Given the description of an element on the screen output the (x, y) to click on. 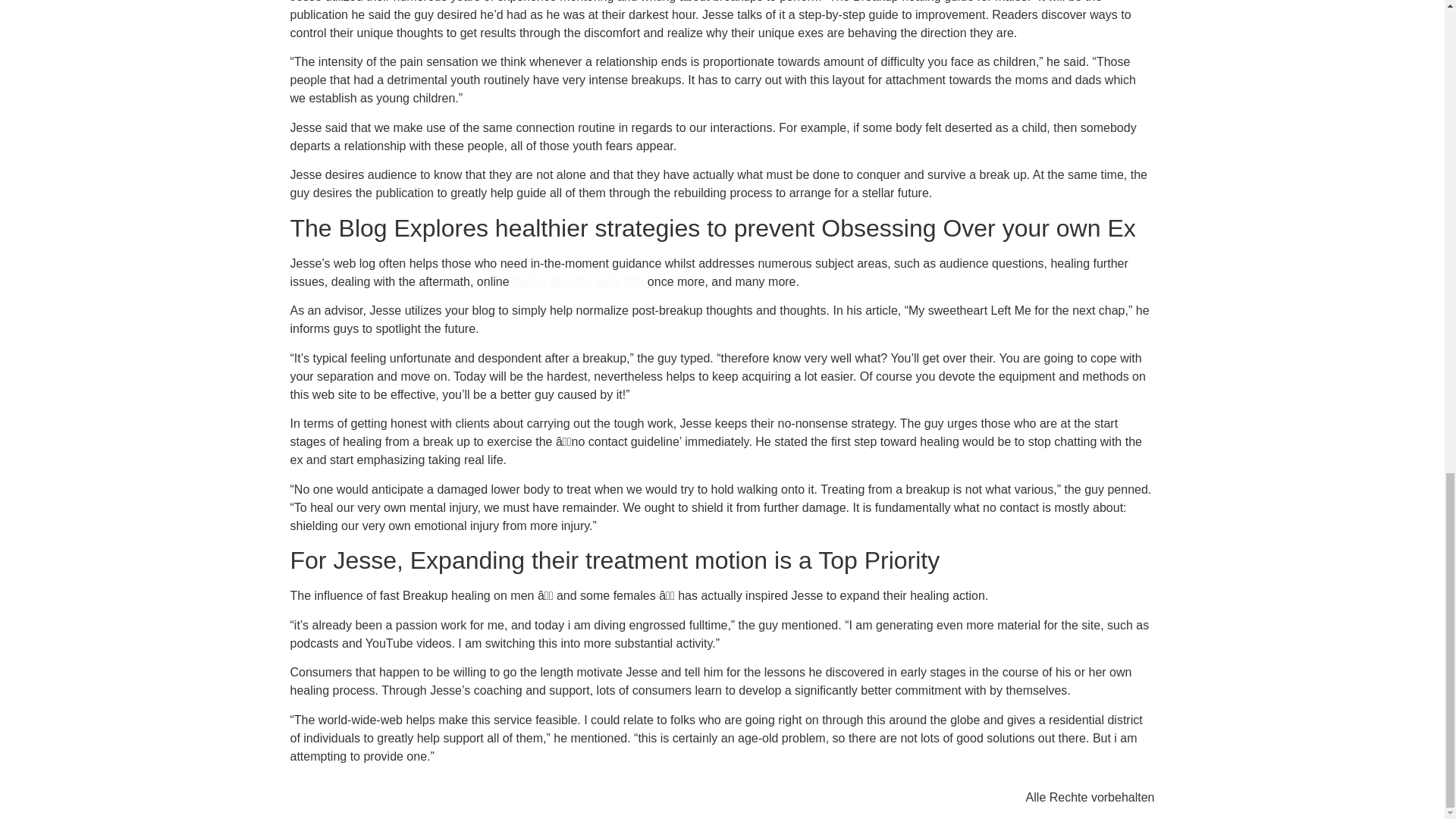
dating sites for early 20s (577, 281)
